Given the description of an element on the screen output the (x, y) to click on. 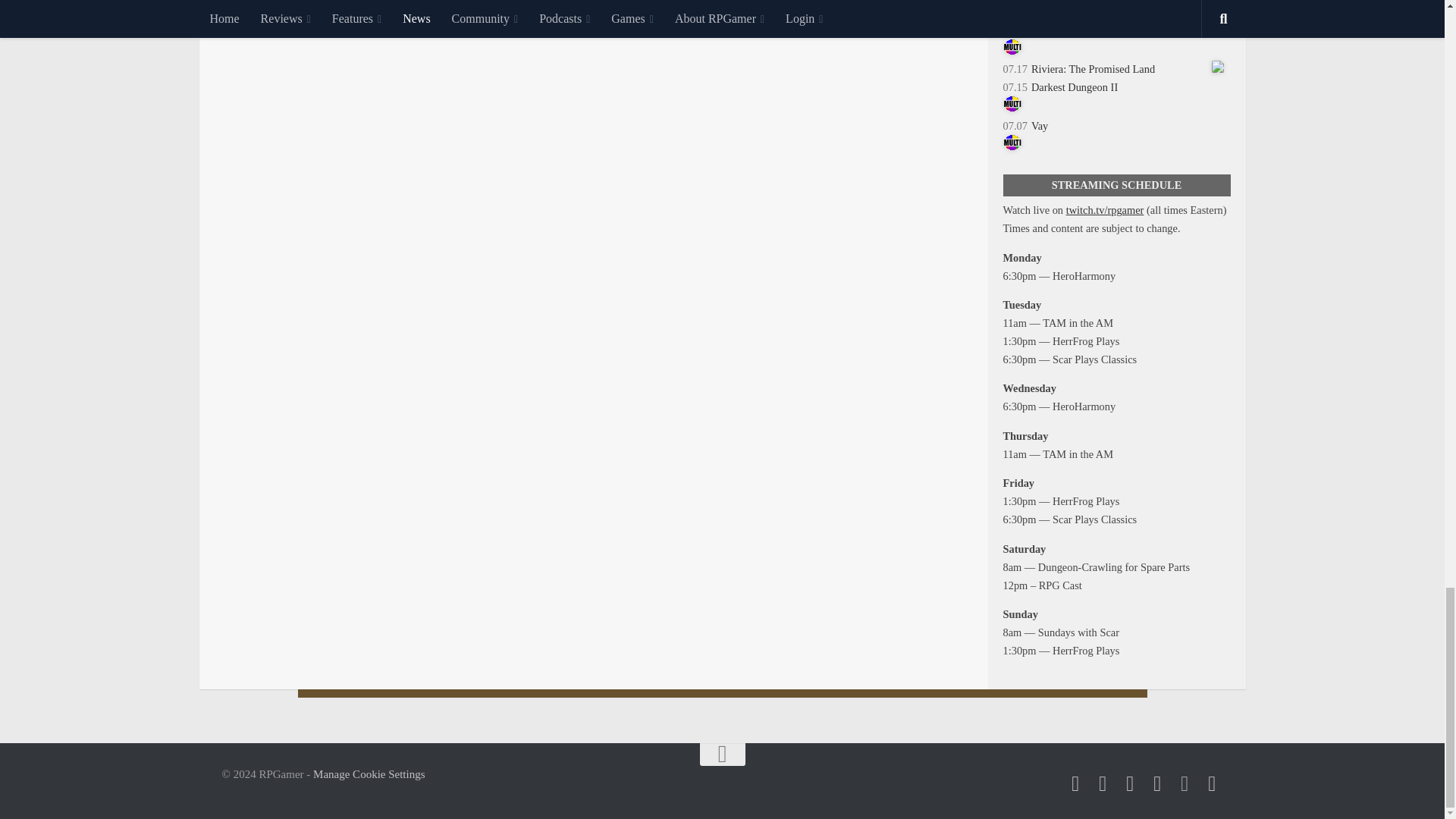
Follow us on Twitter (1075, 783)
